Given the description of an element on the screen output the (x, y) to click on. 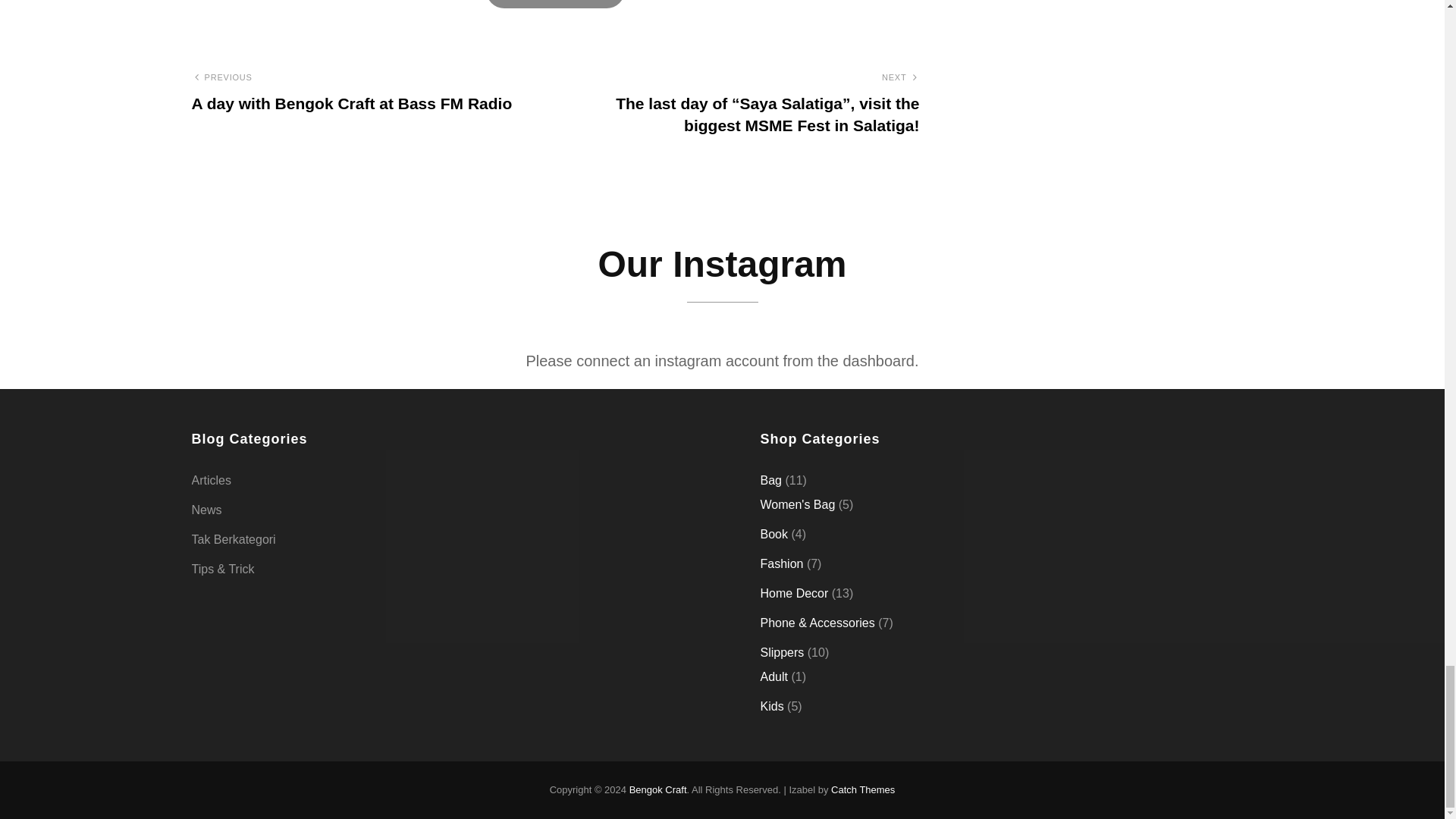
Tak Berkategori (232, 539)
Articles (210, 480)
News (205, 509)
Post Comment (555, 4)
Book (773, 533)
Women's Bag (797, 504)
Bag (770, 480)
Post Comment (555, 4)
